Given the description of an element on the screen output the (x, y) to click on. 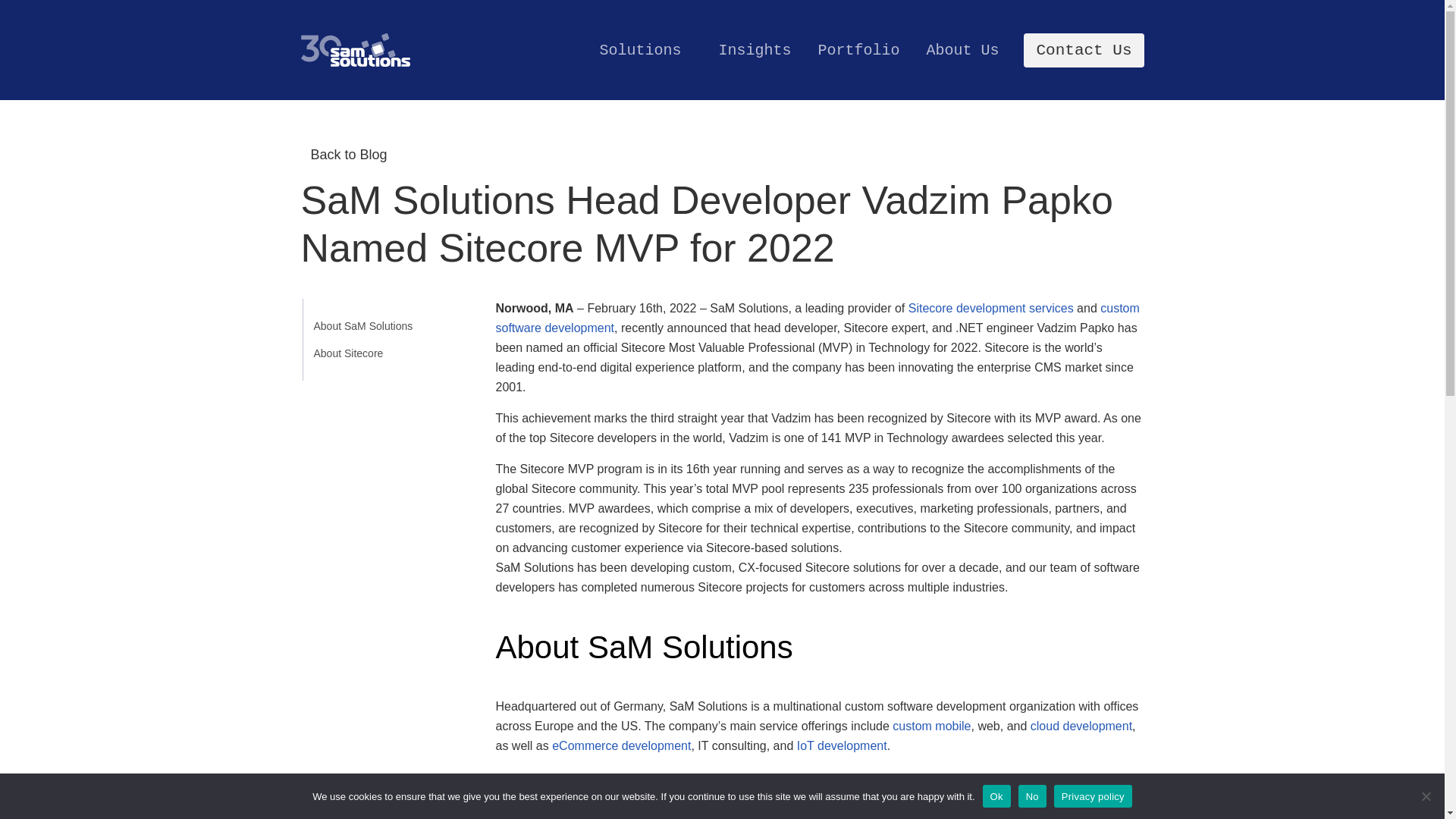
cloud development (1081, 725)
About Us (962, 50)
Contact Us (1082, 50)
Solutions (644, 50)
Back to Blog (343, 155)
About Sitecore (357, 352)
eCommerce development (620, 745)
IoT development (841, 745)
No (1425, 795)
custom mobile (931, 725)
Portfolio (857, 50)
Sitecore development services (991, 308)
Insights (753, 50)
custom software development (818, 318)
About SaM Solutions (357, 325)
